Given the description of an element on the screen output the (x, y) to click on. 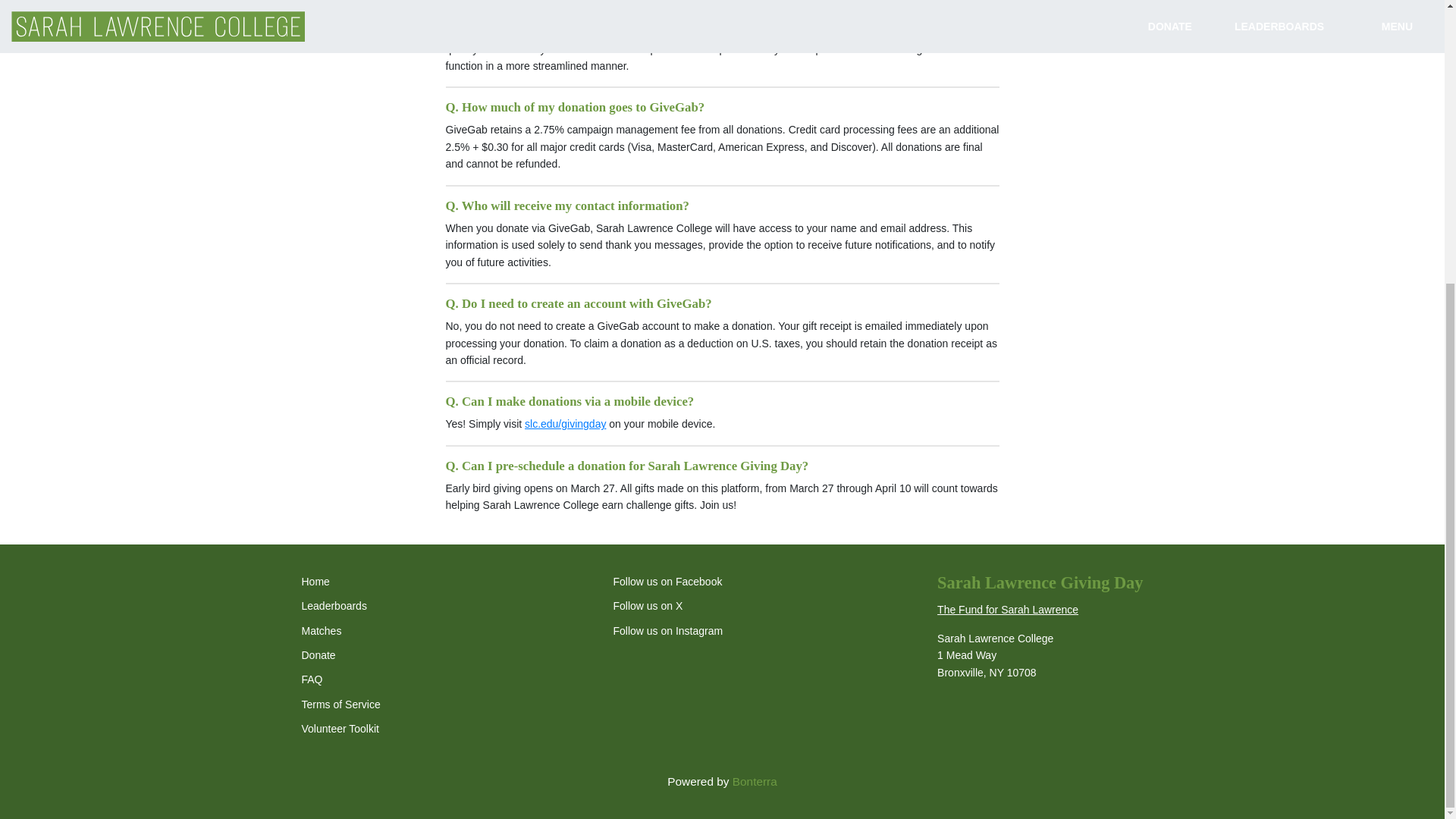
Follow us on Facebook (658, 581)
The Fund for Sarah Lawrence (1007, 609)
Terms of Service (340, 704)
Matches (321, 630)
FAQ (312, 679)
Home (315, 581)
Bonterra (754, 780)
Follow us on X (638, 605)
Volunteer Toolkit (339, 728)
Leaderboards (333, 605)
Follow us on Instagram (659, 630)
Donate (318, 654)
